Given the description of an element on the screen output the (x, y) to click on. 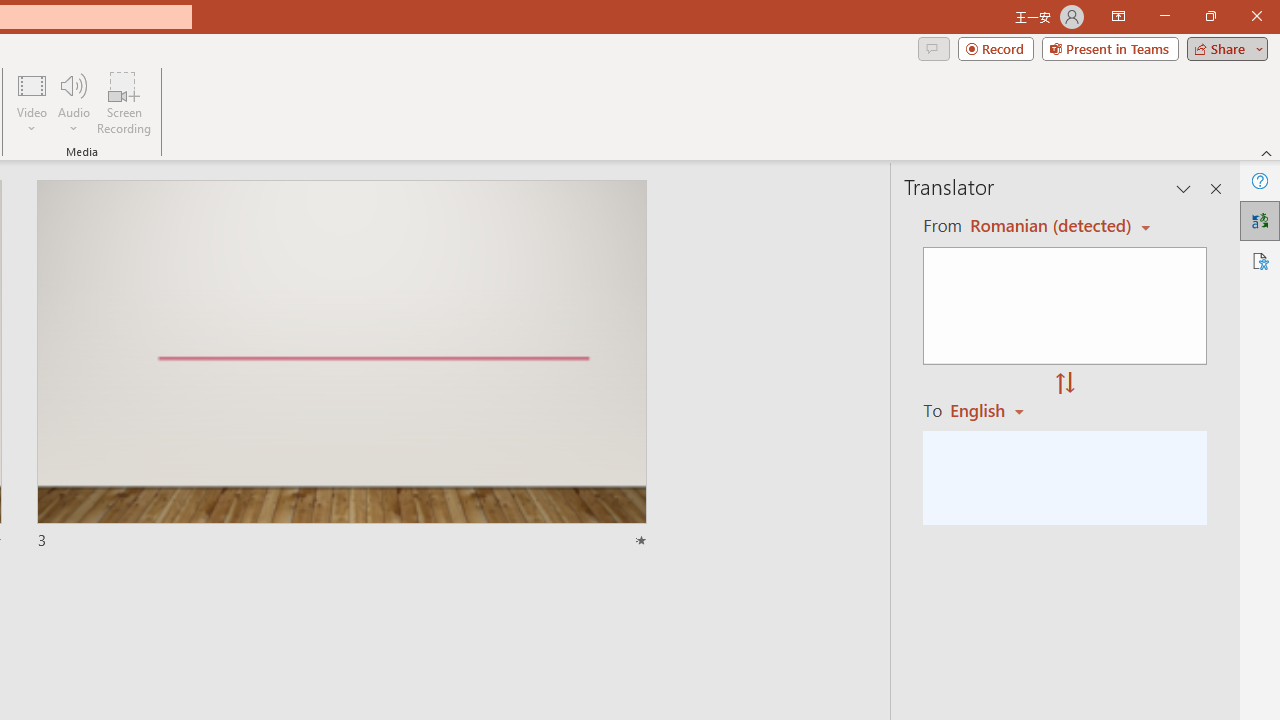
Video (31, 102)
Screen Recording... (123, 102)
Romanian (994, 409)
